Given the description of an element on the screen output the (x, y) to click on. 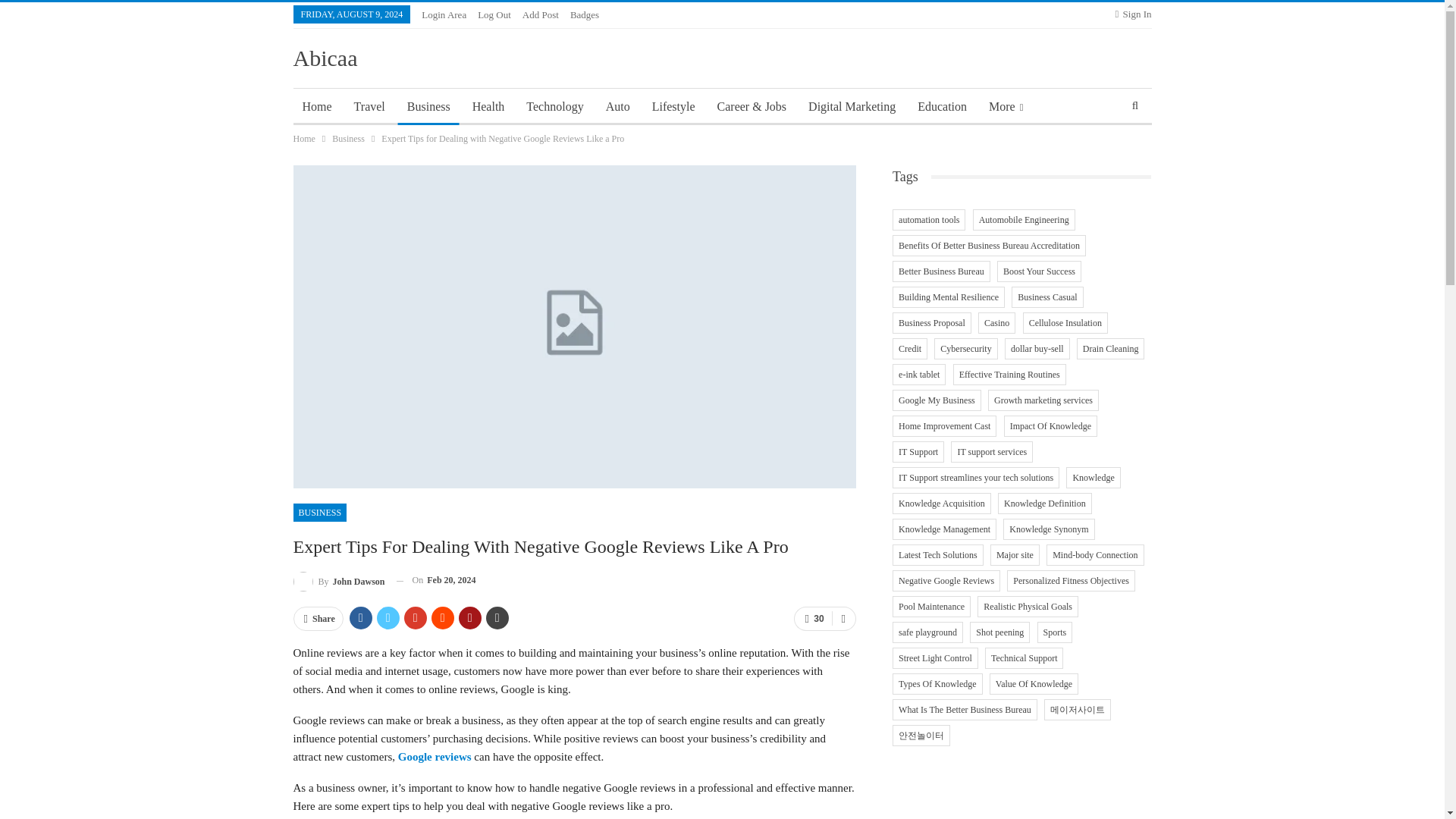
BUSINESS (319, 512)
Home (303, 138)
By John Dawson (338, 580)
Lifestyle (673, 106)
Business (348, 138)
Health (488, 106)
Badges (584, 14)
Log Out (494, 14)
Home (316, 106)
Digital Marketing (851, 106)
